Given the description of an element on the screen output the (x, y) to click on. 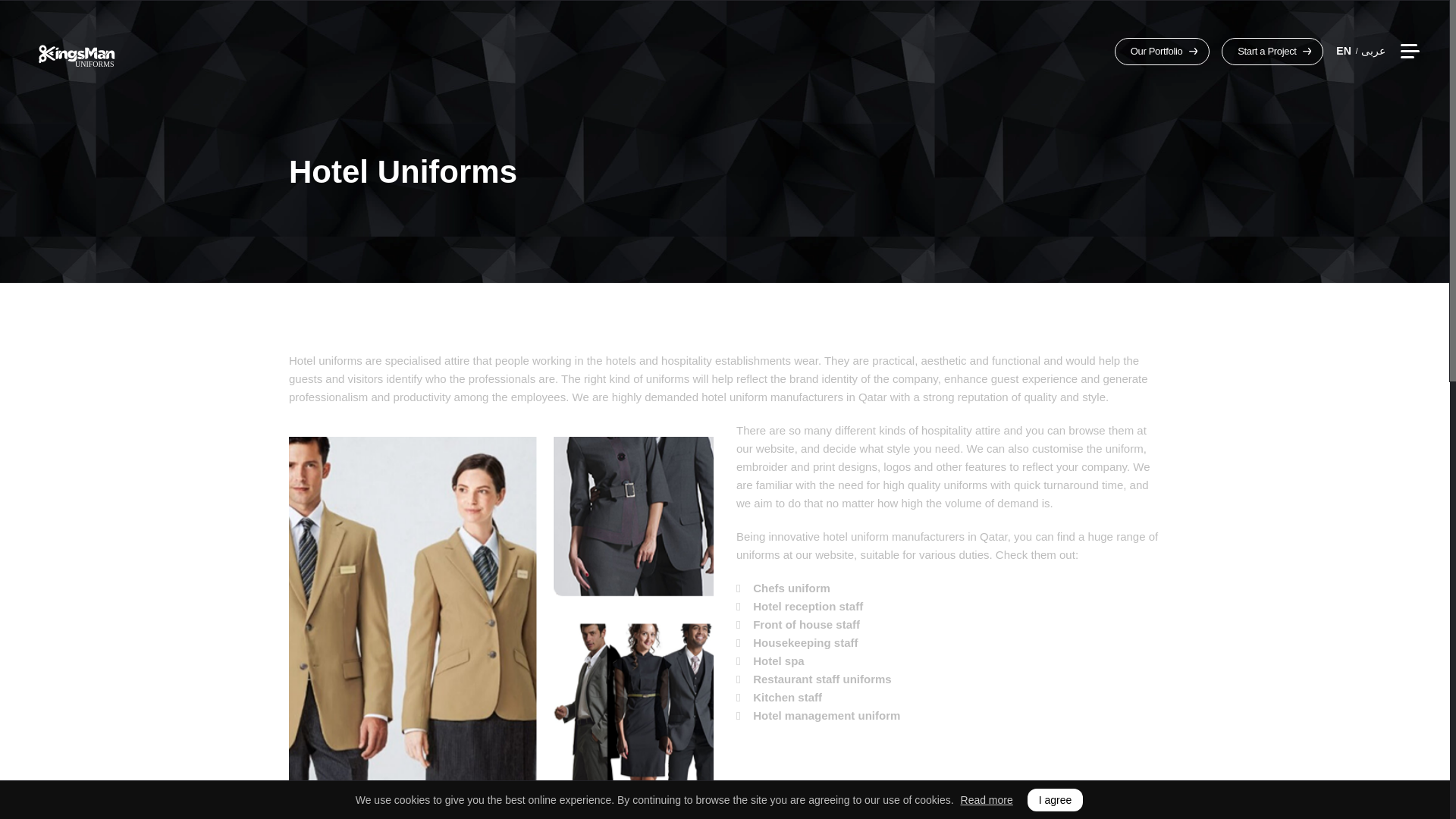
I agree (1055, 799)
Read more (986, 799)
Our Portfolio (1162, 51)
English (1346, 50)
EN (1346, 50)
Start a Project (1272, 51)
Kings Man Trading Qatar (76, 52)
